Given the description of an element on the screen output the (x, y) to click on. 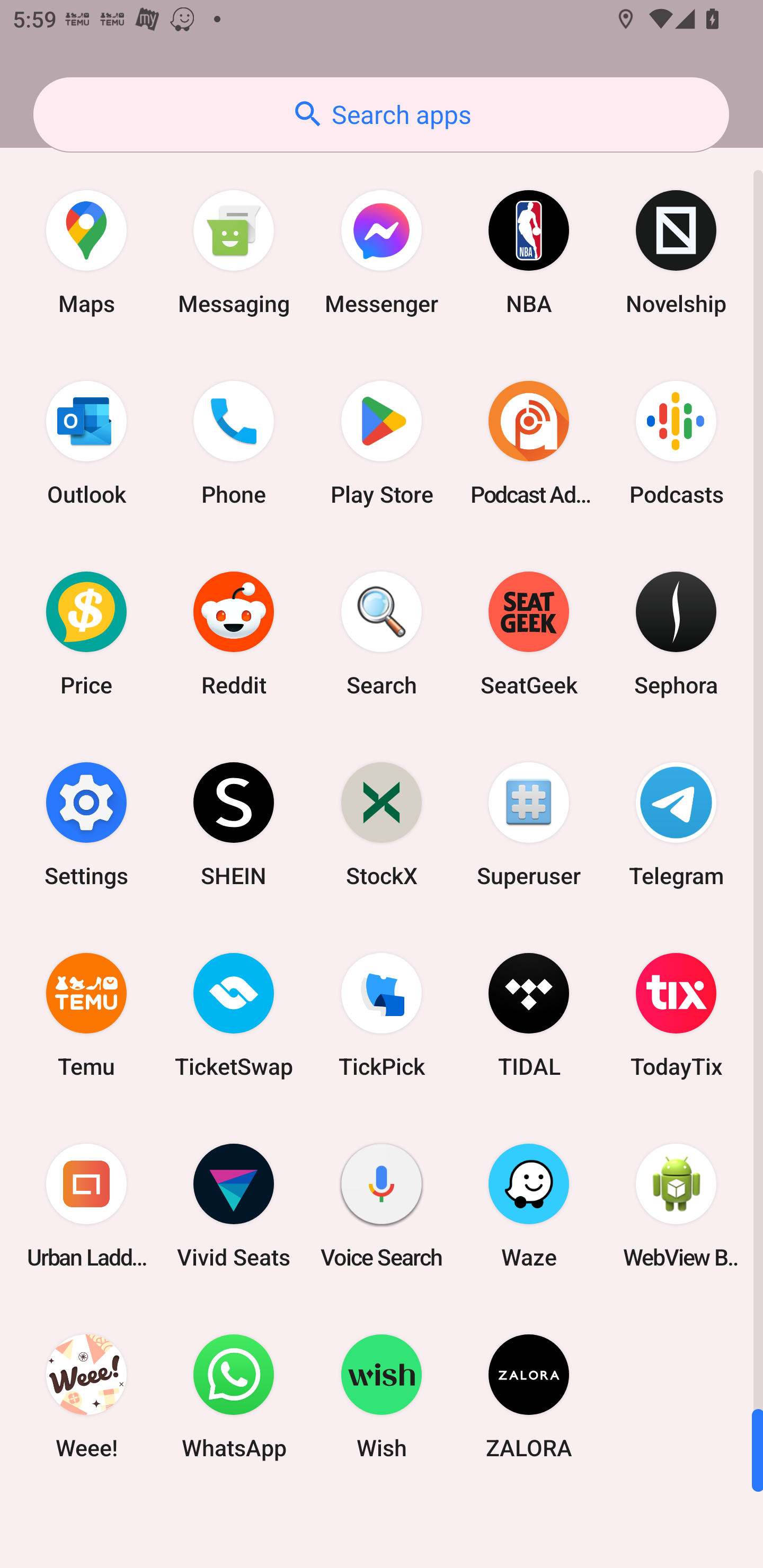
  Search apps (381, 114)
Maps (86, 252)
Messaging (233, 252)
Messenger (381, 252)
NBA (528, 252)
Novelship (676, 252)
Outlook (86, 442)
Phone (233, 442)
Play Store (381, 442)
Podcast Addict (528, 442)
Podcasts (676, 442)
Price (86, 633)
Reddit (233, 633)
Search (381, 633)
SeatGeek (528, 633)
Sephora (676, 633)
Settings (86, 823)
SHEIN (233, 823)
StockX (381, 823)
Superuser (528, 823)
Telegram (676, 823)
Temu (86, 1014)
TicketSwap (233, 1014)
TickPick (381, 1014)
TIDAL (528, 1014)
TodayTix (676, 1014)
Urban Ladder (86, 1205)
Vivid Seats (233, 1205)
Voice Search (381, 1205)
Waze (528, 1205)
WebView Browser Tester (676, 1205)
Weee! (86, 1396)
WhatsApp (233, 1396)
Wish (381, 1396)
ZALORA (528, 1396)
